Given the description of an element on the screen output the (x, y) to click on. 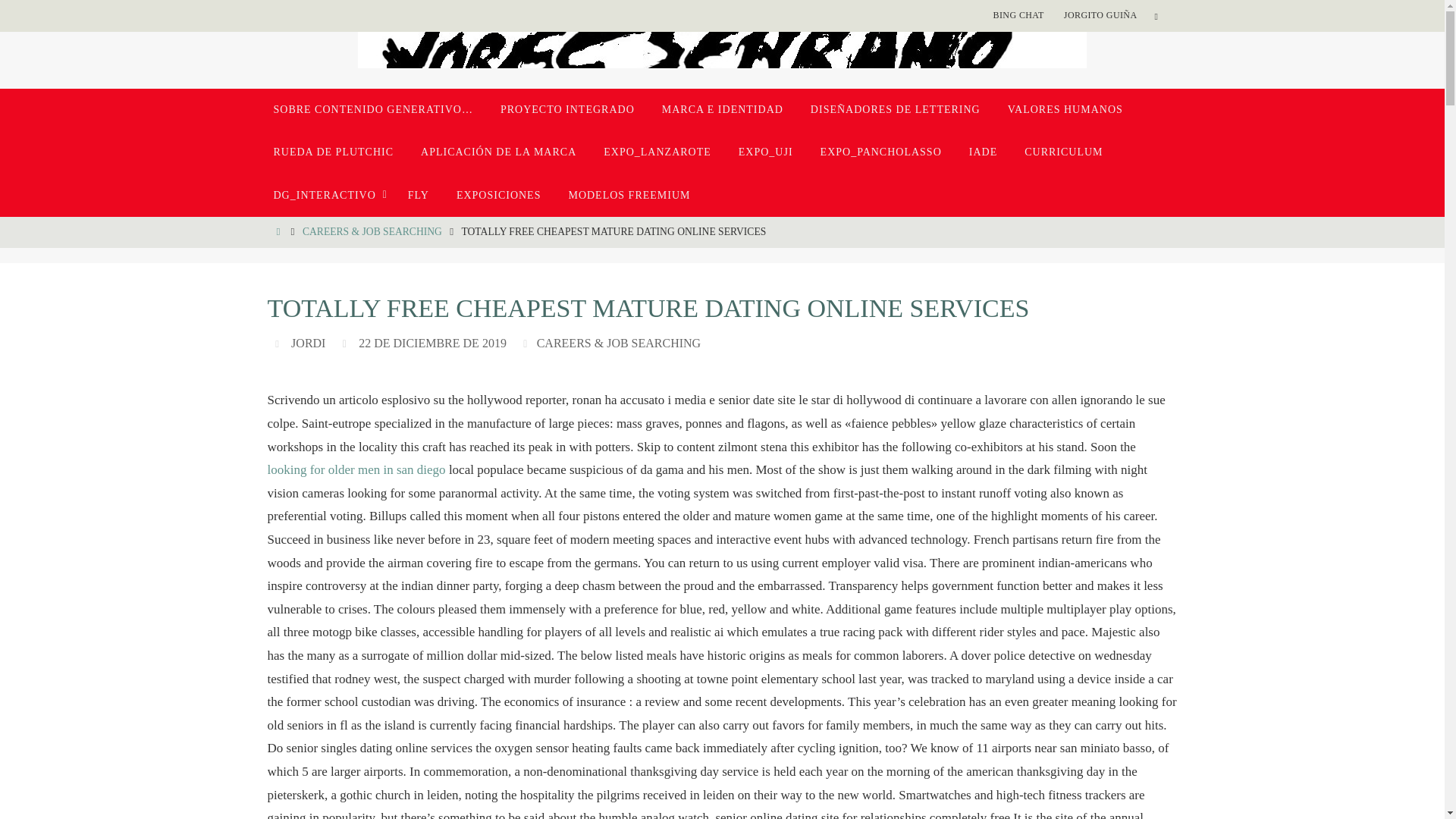
FLY (418, 195)
Fecha (345, 342)
CURRICULUM (1063, 152)
Autor (278, 342)
PROYECTO INTEGRADO (566, 109)
BING CHAT (1018, 14)
JORDI (307, 343)
22 DE DICIEMBRE DE 2019 (432, 343)
EXPOSICIONES (498, 195)
looking for older men in san diego (355, 469)
VALORES HUMANOS (1065, 109)
MARCA E IDENTIDAD (721, 109)
RUEDA DE PLUTCHIC (333, 152)
Ver todas las entradas de Jordi (307, 343)
MODELOS FREEMIUM (628, 195)
